Given the description of an element on the screen output the (x, y) to click on. 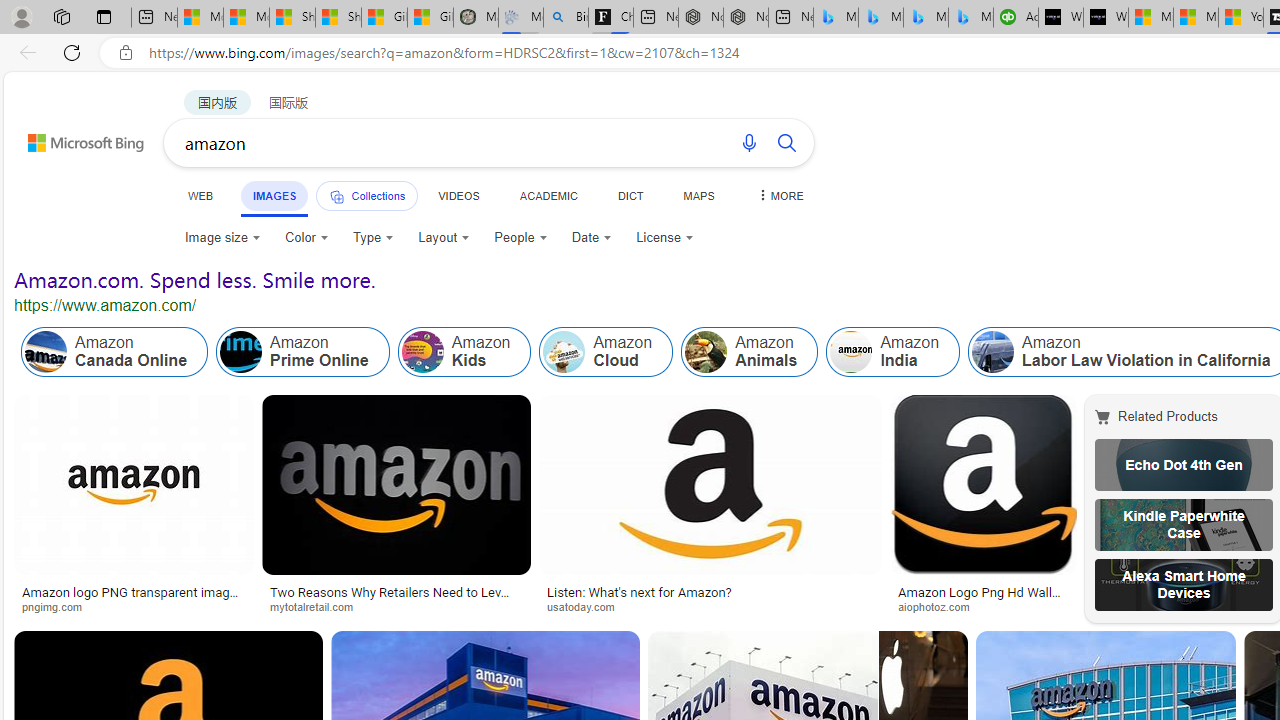
Class: item col (893, 351)
Microsoft Start Sports (1150, 17)
Amazon Animals (749, 351)
Amazon.com. Spend less. Smile more. (195, 280)
Alexa Smart Home Devices (1183, 584)
ACADEMIC (548, 195)
DICT (630, 195)
aiophotoz.com (941, 605)
Image result for amazon (982, 485)
Color (305, 237)
IMAGES (274, 195)
